Given the description of an element on the screen output the (x, y) to click on. 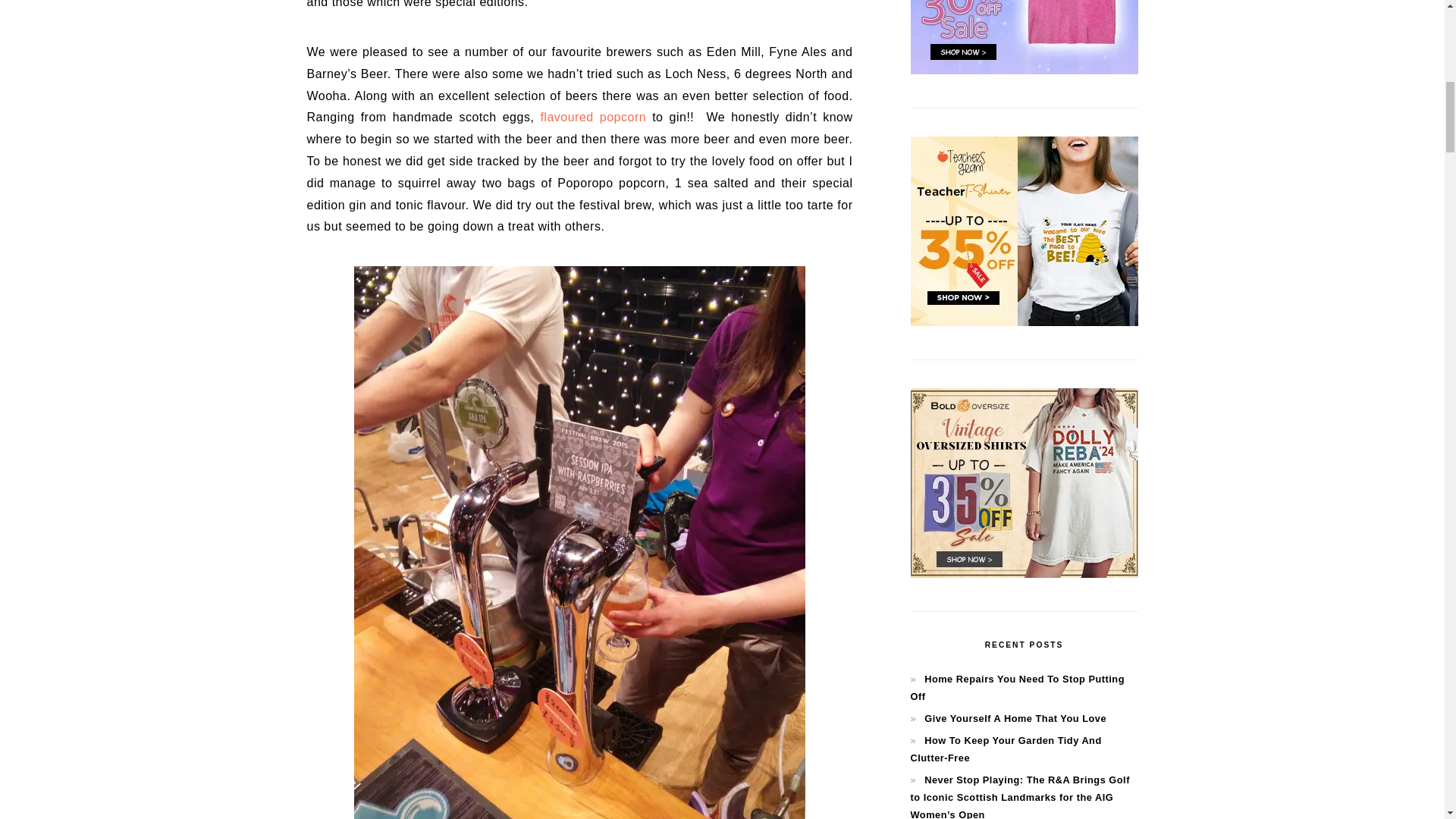
flavoured popcorn (593, 116)
baby tees (1023, 70)
teacher shirt (1023, 322)
